Given the description of an element on the screen output the (x, y) to click on. 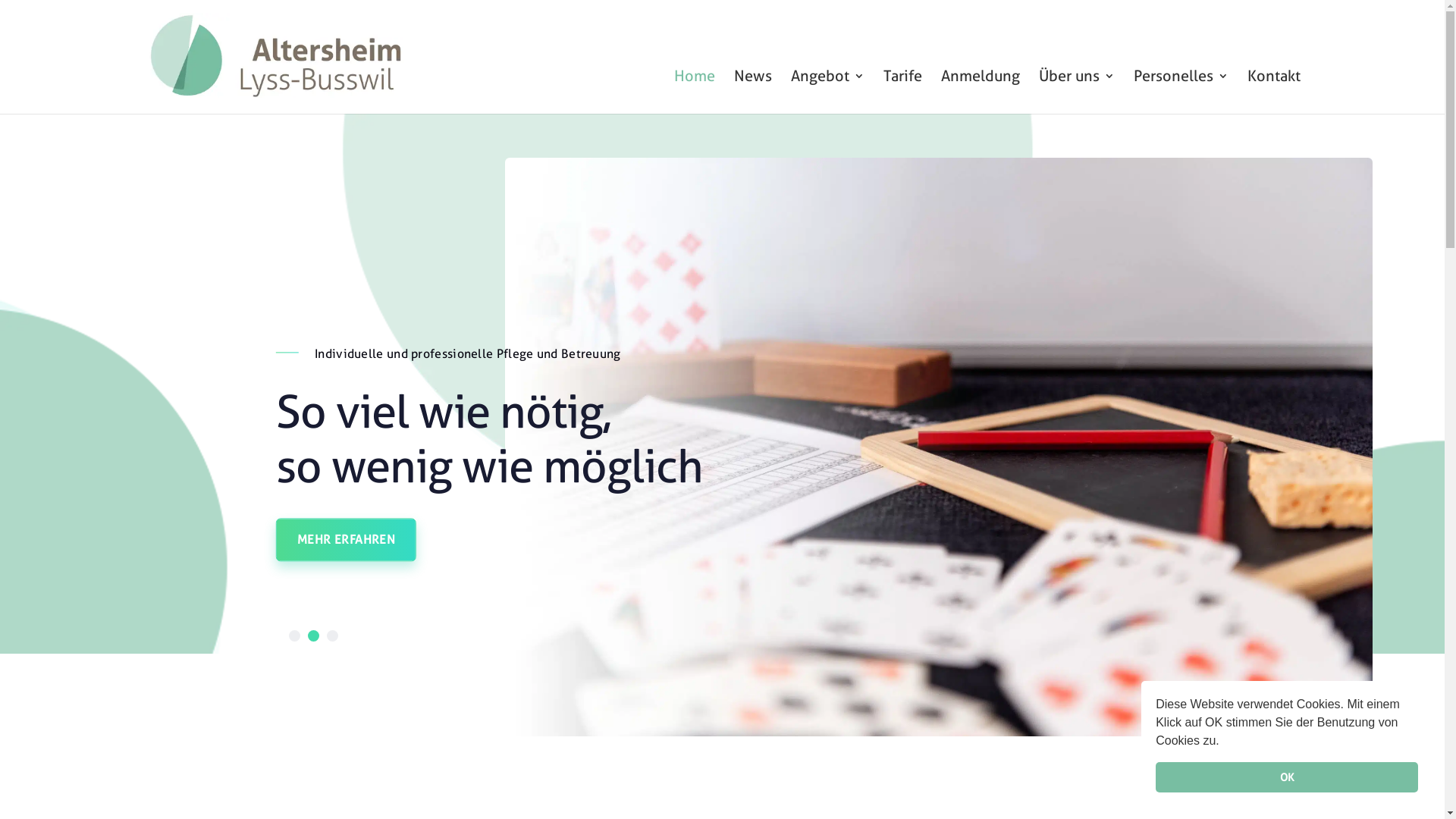
background-startseite Element type: hover (722, 383)
3 Element type: text (332, 635)
Angebot Element type: text (826, 90)
2 Element type: text (313, 635)
Individuelle und professionelle Pflege und Betreuung Element type: text (467, 353)
Personelles Element type: text (1179, 90)
OK Element type: text (1286, 777)
Tarife Element type: text (901, 90)
Anmeldung Element type: text (979, 90)
News Element type: text (752, 90)
1 Element type: text (294, 635)
Home Element type: text (693, 90)
Kontakt Element type: text (1272, 90)
MEHR ERFAHREN Element type: text (346, 539)
